Given the description of an element on the screen output the (x, y) to click on. 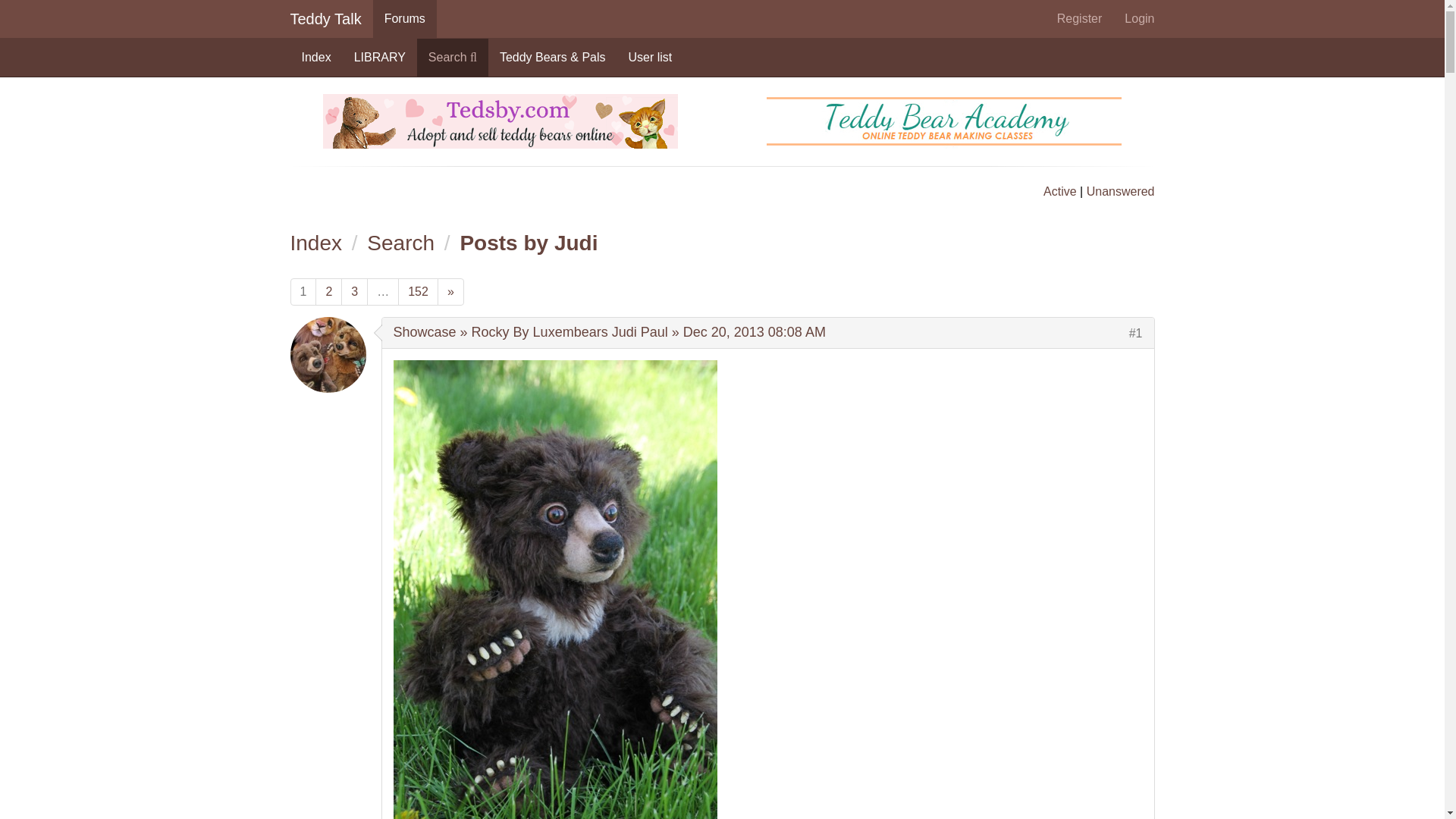
Index (315, 242)
152 (417, 292)
Search (451, 57)
Search (399, 242)
Find topics with recent posts. (1060, 191)
Login (1139, 18)
Teddy Talk (325, 18)
LIBRARY (379, 57)
User list (650, 57)
Rocky By Luxembears Judi Paul (569, 331)
